Given the description of an element on the screen output the (x, y) to click on. 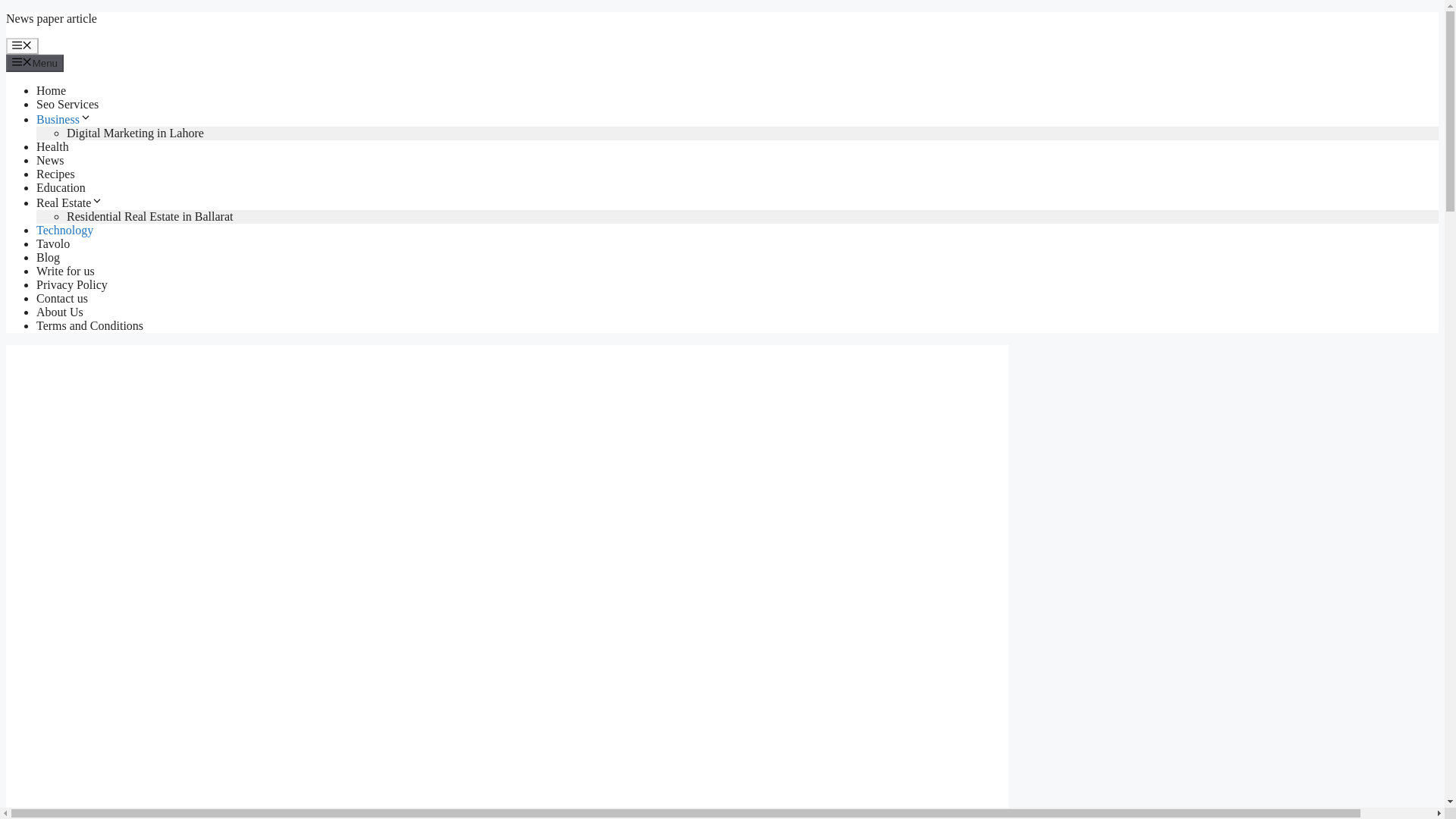
Tavolo (52, 243)
Education (60, 187)
Menu (22, 45)
Real Estate (69, 202)
Health (52, 146)
Terms and Conditions (89, 325)
Recipes (55, 173)
News paper article (51, 18)
Seo Services (67, 103)
Digital Marketing in Lahore (134, 132)
Technology (64, 229)
News (50, 160)
Blog (47, 256)
About Us (59, 311)
